Given the description of an element on the screen output the (x, y) to click on. 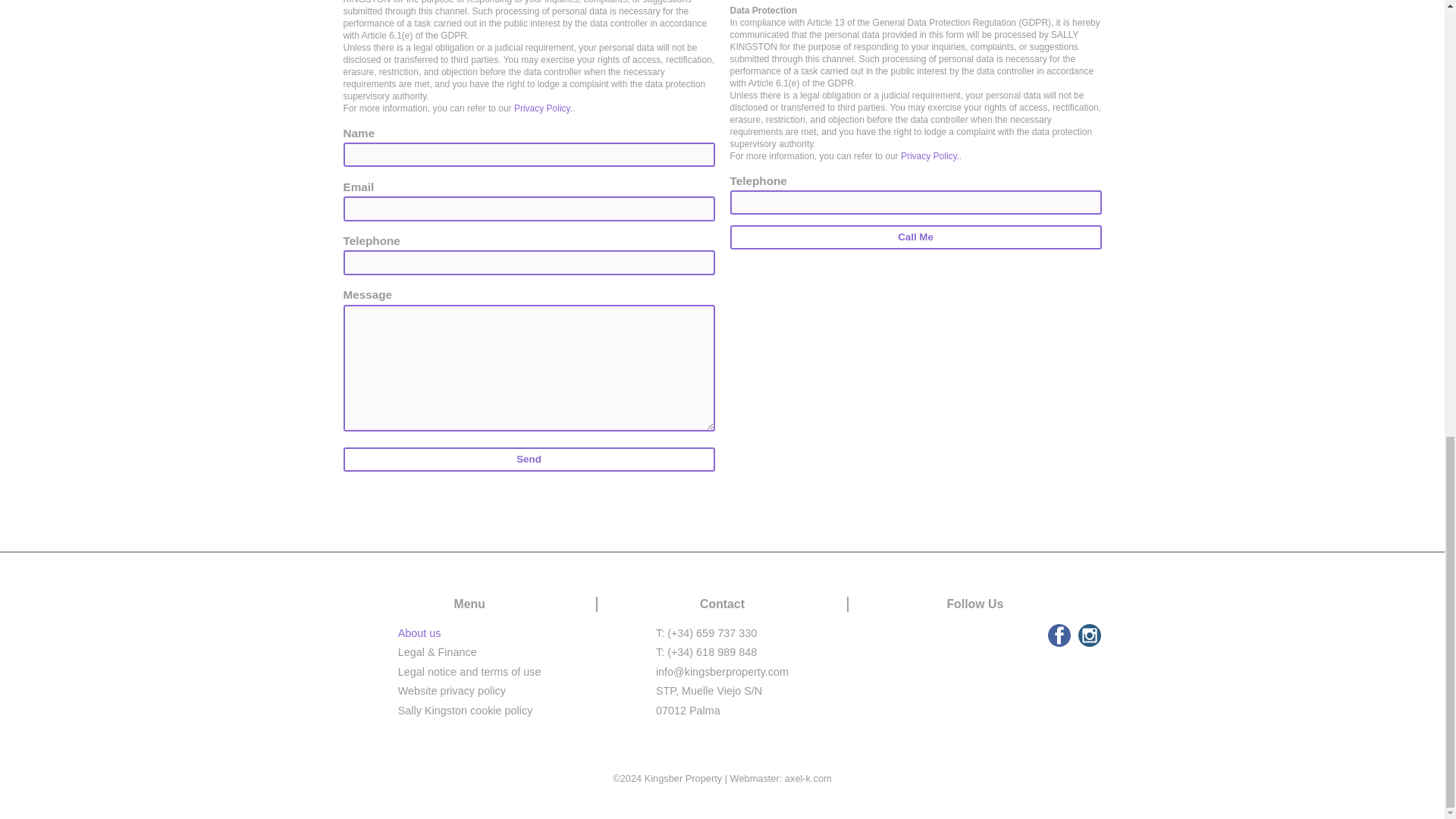
Send (528, 459)
Sally Kingston cookie policy (464, 710)
Send (528, 459)
Privacy Policy. (930, 155)
Call Me (914, 237)
Call Me (914, 237)
Legal notice and terms of use (469, 671)
About us (419, 633)
Privacy Policy. (542, 108)
Webmaster: axel-k.com (780, 778)
Website privacy policy (451, 690)
